Given the description of an element on the screen output the (x, y) to click on. 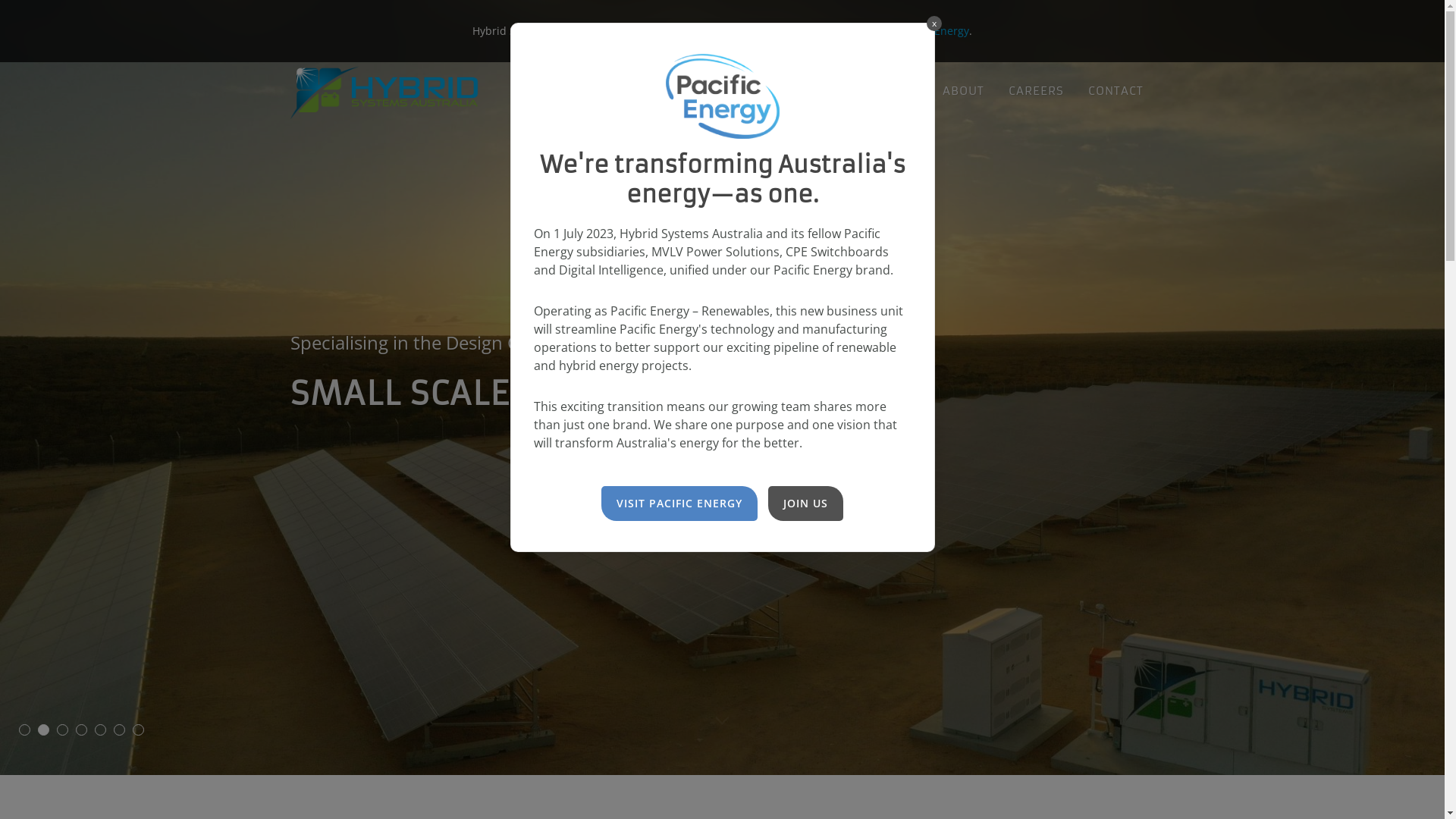
CAREERS Element type: text (1035, 90)
CAPABILITIES Element type: text (791, 90)
Visit Pacific Energy Element type: text (922, 30)
HOME Element type: text (706, 90)
CONTACT Element type: text (1115, 90)
PROJECTS Element type: text (887, 90)
JOIN US Element type: text (805, 503)
ABOUT Element type: text (963, 90)
VISIT PACIFIC ENERGY Element type: text (679, 503)
